Given the description of an element on the screen output the (x, y) to click on. 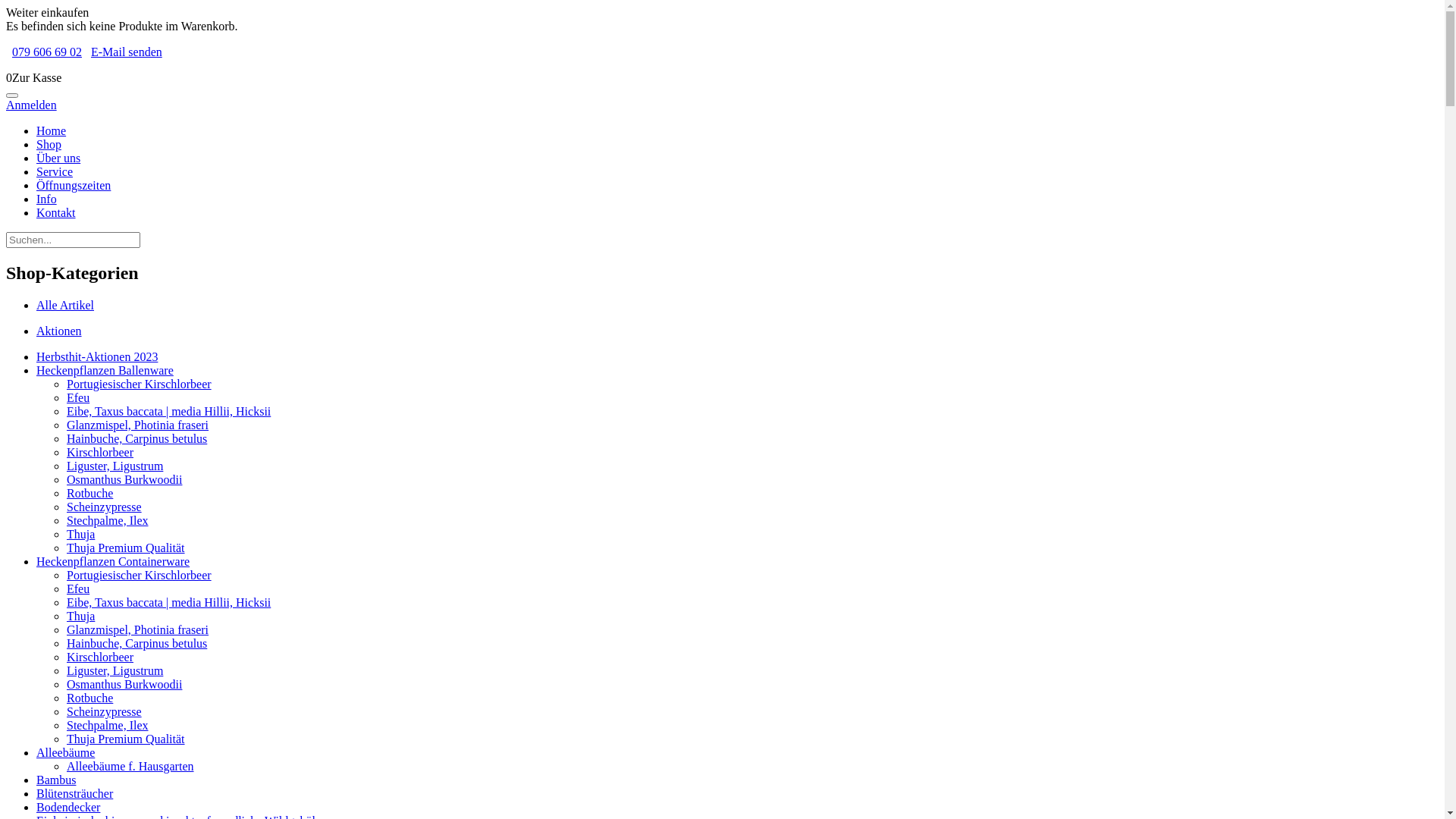
Bodendecker Element type: text (68, 806)
Portugiesischer Kirschlorbeer Element type: text (138, 383)
Kirschlorbeer Element type: text (99, 451)
Info Element type: text (46, 198)
Thuja Element type: text (80, 533)
Shop Element type: text (48, 144)
Service Element type: text (54, 171)
Thuja Element type: text (80, 615)
Efeu Element type: text (77, 397)
Eibe, Taxus baccata | media Hillii, Hicksii Element type: text (168, 410)
Osmanthus Burkwoodii Element type: text (124, 479)
Hainbuche, Carpinus betulus Element type: text (136, 643)
Glanzmispel, Photinia fraseri Element type: text (137, 424)
Efeu Element type: text (77, 588)
Hainbuche, Carpinus betulus Element type: text (136, 438)
Osmanthus Burkwoodii Element type: text (124, 683)
Rotbuche Element type: text (89, 697)
Aktionen Element type: text (58, 330)
Home Element type: text (50, 130)
Scheinzypresse Element type: text (103, 506)
Liguster, Ligustrum Element type: text (114, 670)
Stechpalme, Ilex Element type: text (107, 520)
Bambus Element type: text (55, 779)
Heckenpflanzen Containerware Element type: text (112, 561)
Alle Artikel Element type: text (65, 304)
Heckenpflanzen Ballenware Element type: text (104, 370)
Rotbuche Element type: text (89, 492)
Herbsthit-Aktionen 2023 Element type: text (96, 356)
Scheinzypresse Element type: text (103, 711)
Glanzmispel, Photinia fraseri Element type: text (137, 629)
E-Mail senden Element type: text (126, 51)
Stechpalme, Ilex Element type: text (107, 724)
Kirschlorbeer Element type: text (99, 656)
Kontakt Element type: text (55, 212)
Liguster, Ligustrum Element type: text (114, 465)
Eibe, Taxus baccata | media Hillii, Hicksii Element type: text (168, 602)
Anmelden Element type: text (31, 104)
Portugiesischer Kirschlorbeer Element type: text (138, 574)
079 606 69 02 Element type: text (46, 51)
